Given the description of an element on the screen output the (x, y) to click on. 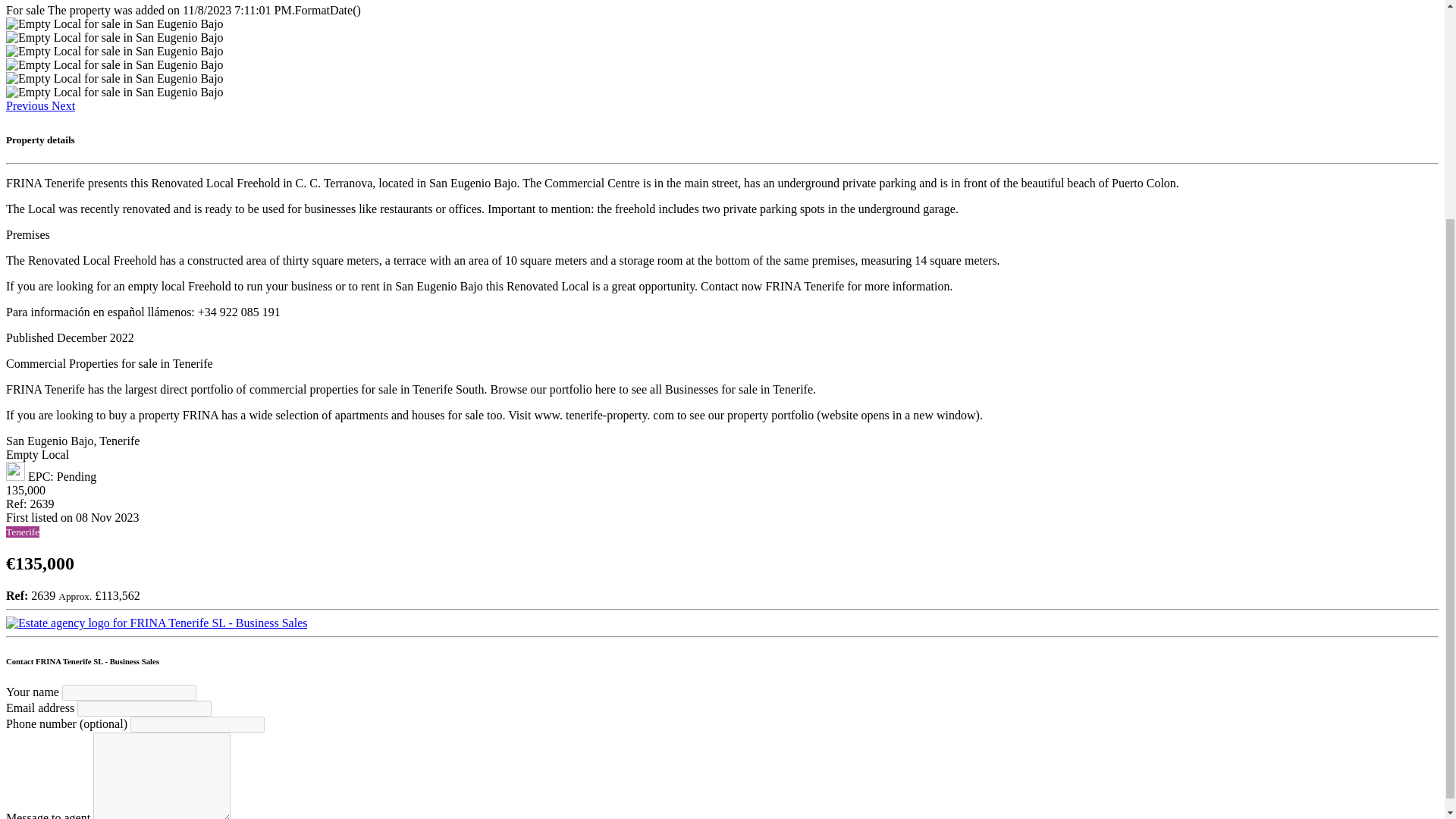
Previous (27, 105)
Next (62, 105)
Rate: 0.8412 (98, 594)
